Given the description of an element on the screen output the (x, y) to click on. 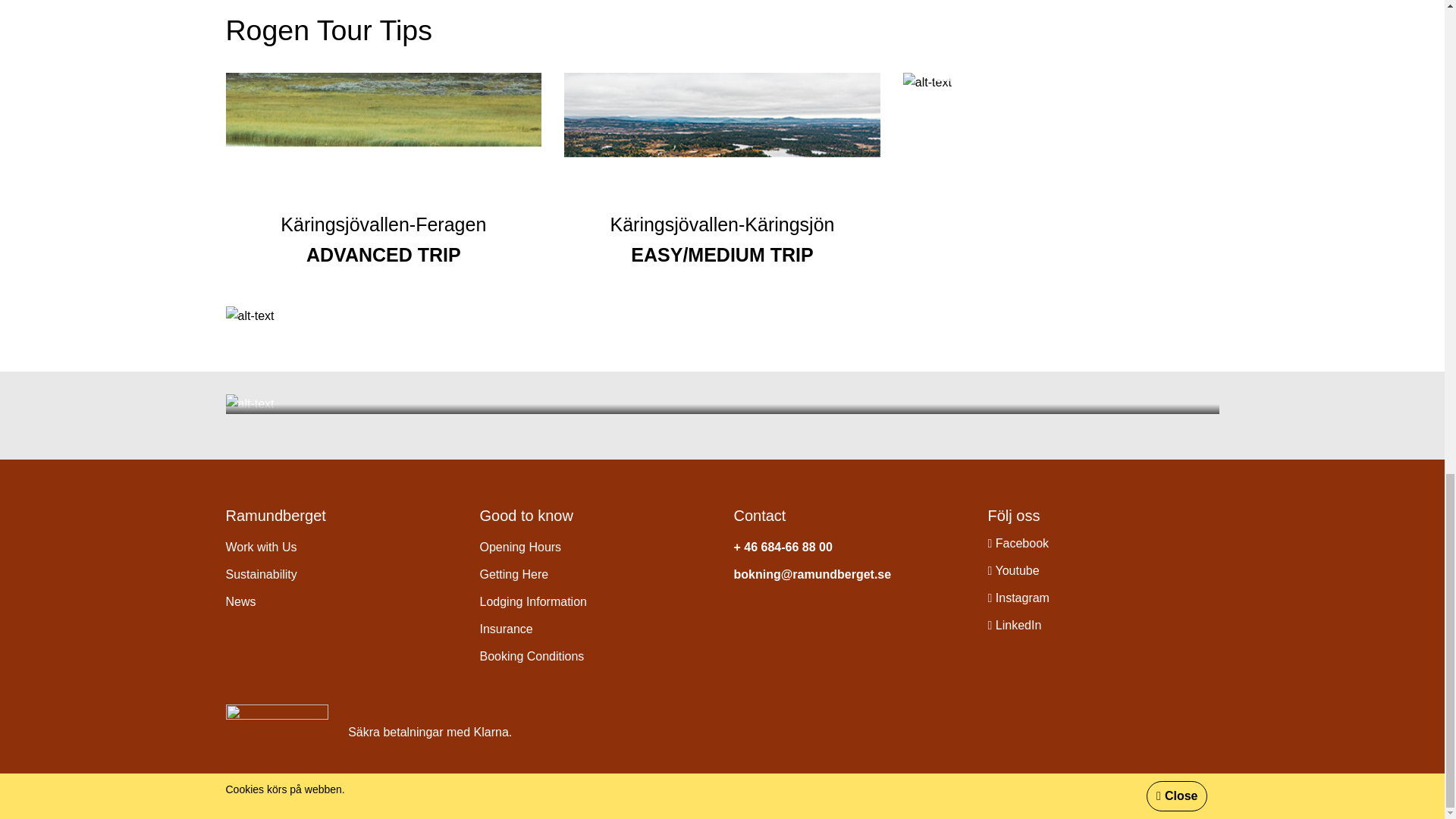
Opening Hours (519, 546)
Youtube (1013, 571)
Instagram (1017, 598)
News (240, 601)
Work here (261, 546)
Booking conditions (531, 656)
Sustainability (261, 574)
Get here (513, 574)
Insurance (505, 628)
Lodging information (532, 601)
